Given the description of an element on the screen output the (x, y) to click on. 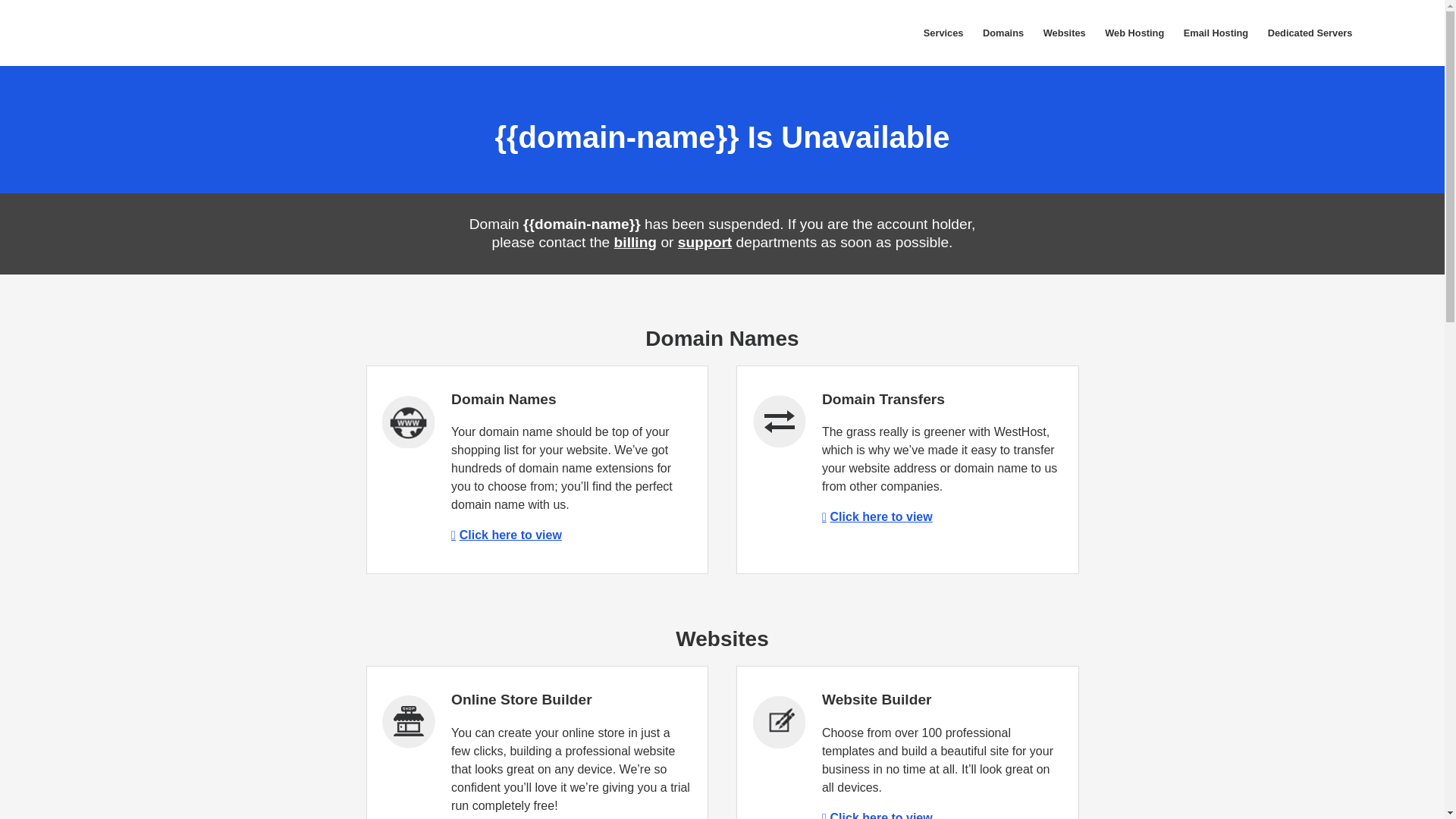
support (705, 242)
Web Hosting (1133, 32)
Dedicated Servers (1309, 32)
Websites (1064, 32)
Services (943, 32)
billing (636, 242)
Click here to view (877, 815)
Click here to view (877, 516)
Click here to view (506, 534)
Email Hosting (1215, 32)
